Given the description of an element on the screen output the (x, y) to click on. 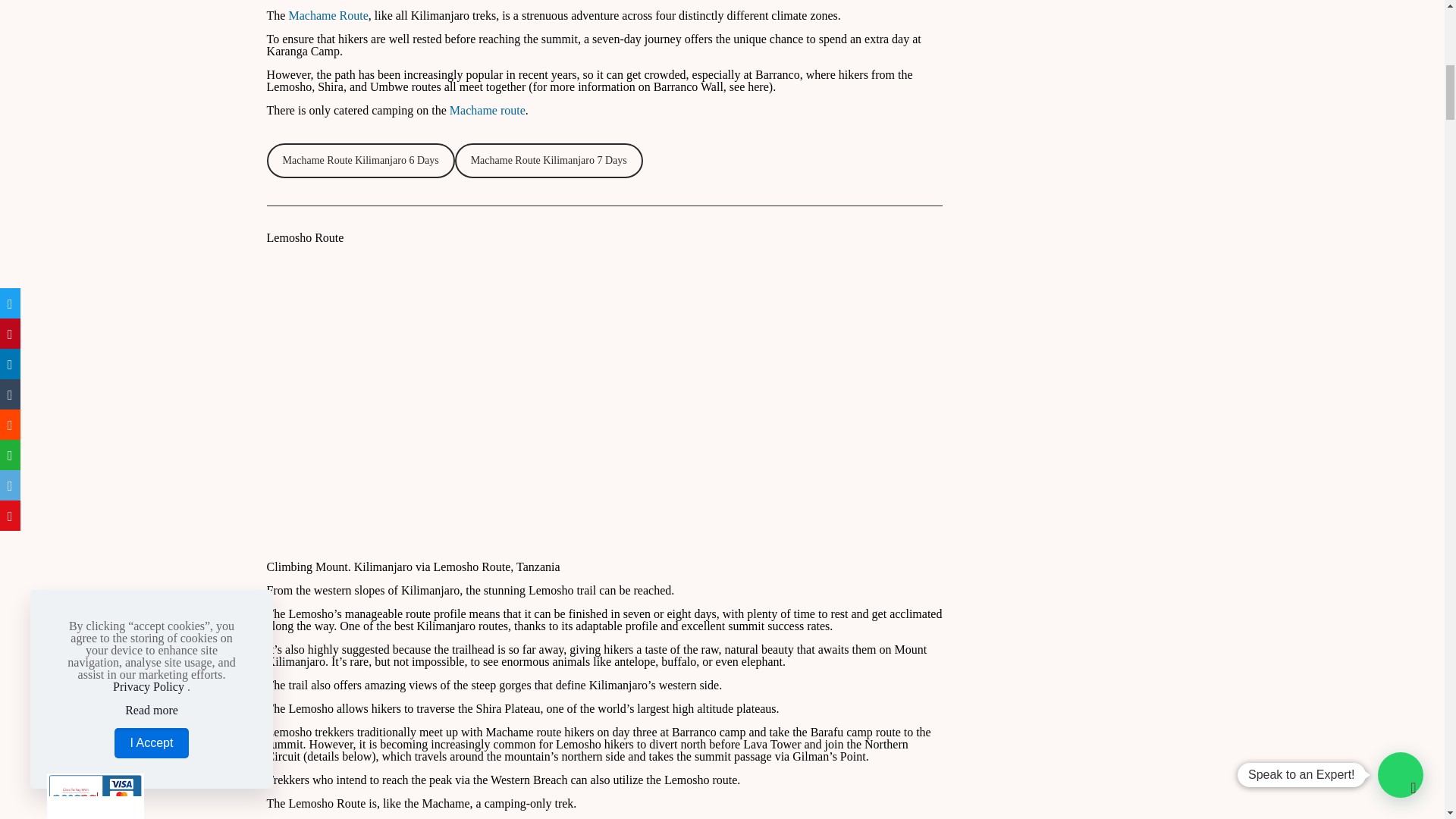
Machame Route Kilimanjaro 7 Days (548, 160)
Machame Route Kilimanjaro 6 Days (360, 160)
